Given the description of an element on the screen output the (x, y) to click on. 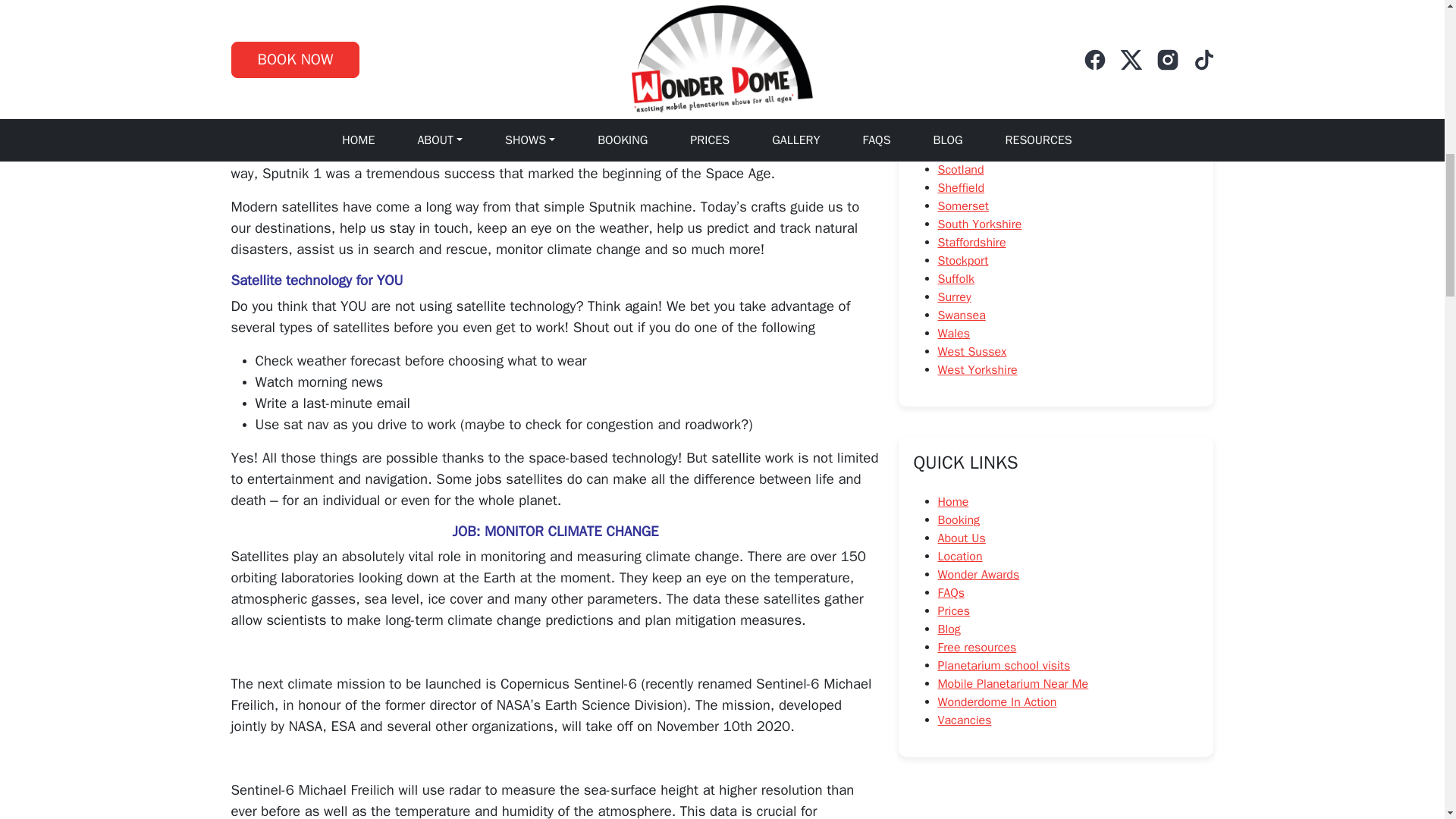
Sputnik 1 (259, 152)
